Given the description of an element on the screen output the (x, y) to click on. 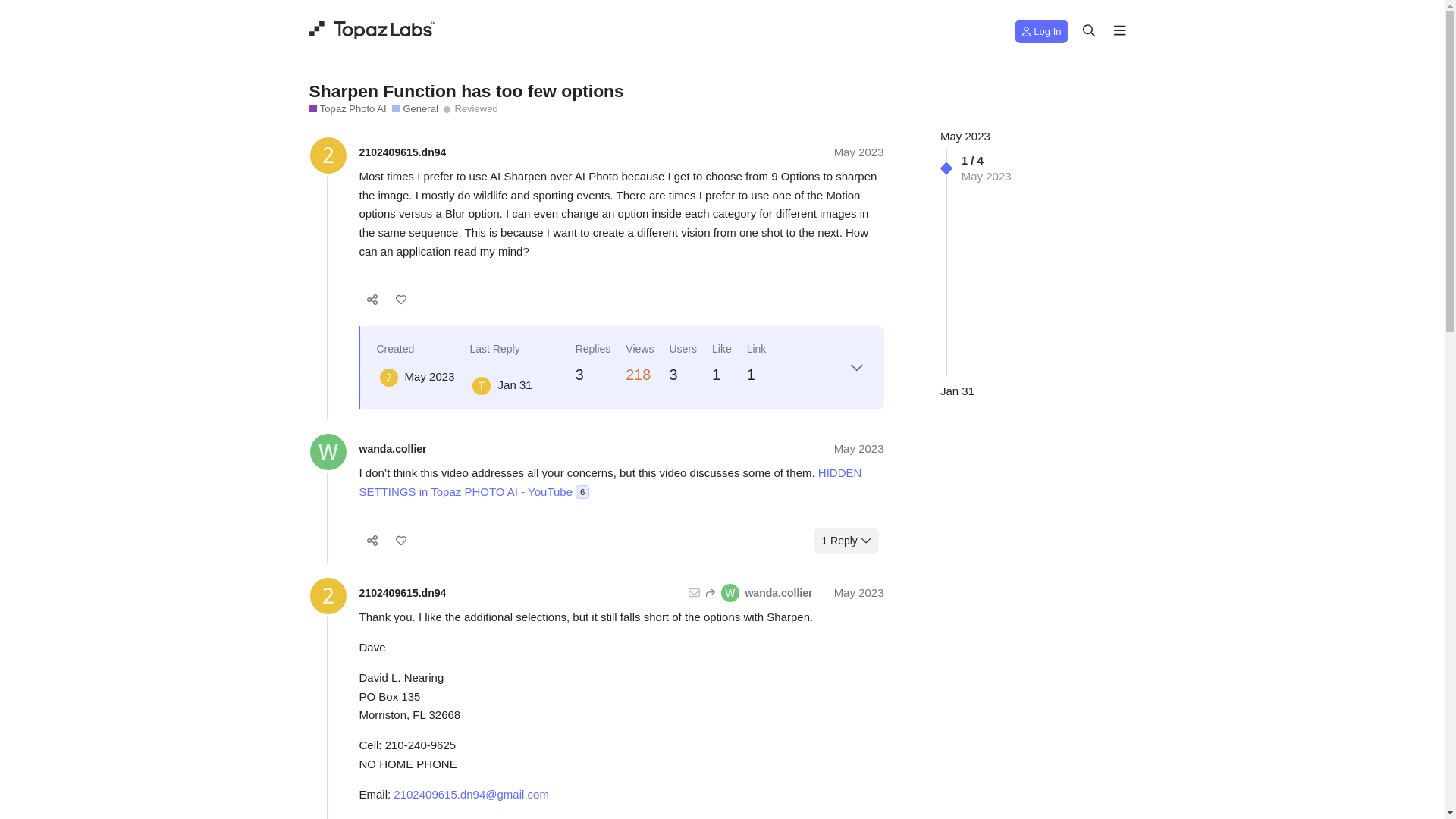
menu (1120, 30)
May 2023 (858, 151)
Jan 31, 2024 4:21 pm (514, 384)
May 17, 2023 4:53 am (429, 376)
Reviewed (470, 109)
wanda.collier (392, 448)
May 2023 (858, 448)
Search (1089, 30)
2102409615.dn94 (402, 592)
Sharpen Function has too few options (466, 89)
like this post (400, 299)
Jan 31, 2024 4:21 pm (957, 390)
wanda.collier (759, 592)
May 2023 (965, 135)
